Given the description of an element on the screen output the (x, y) to click on. 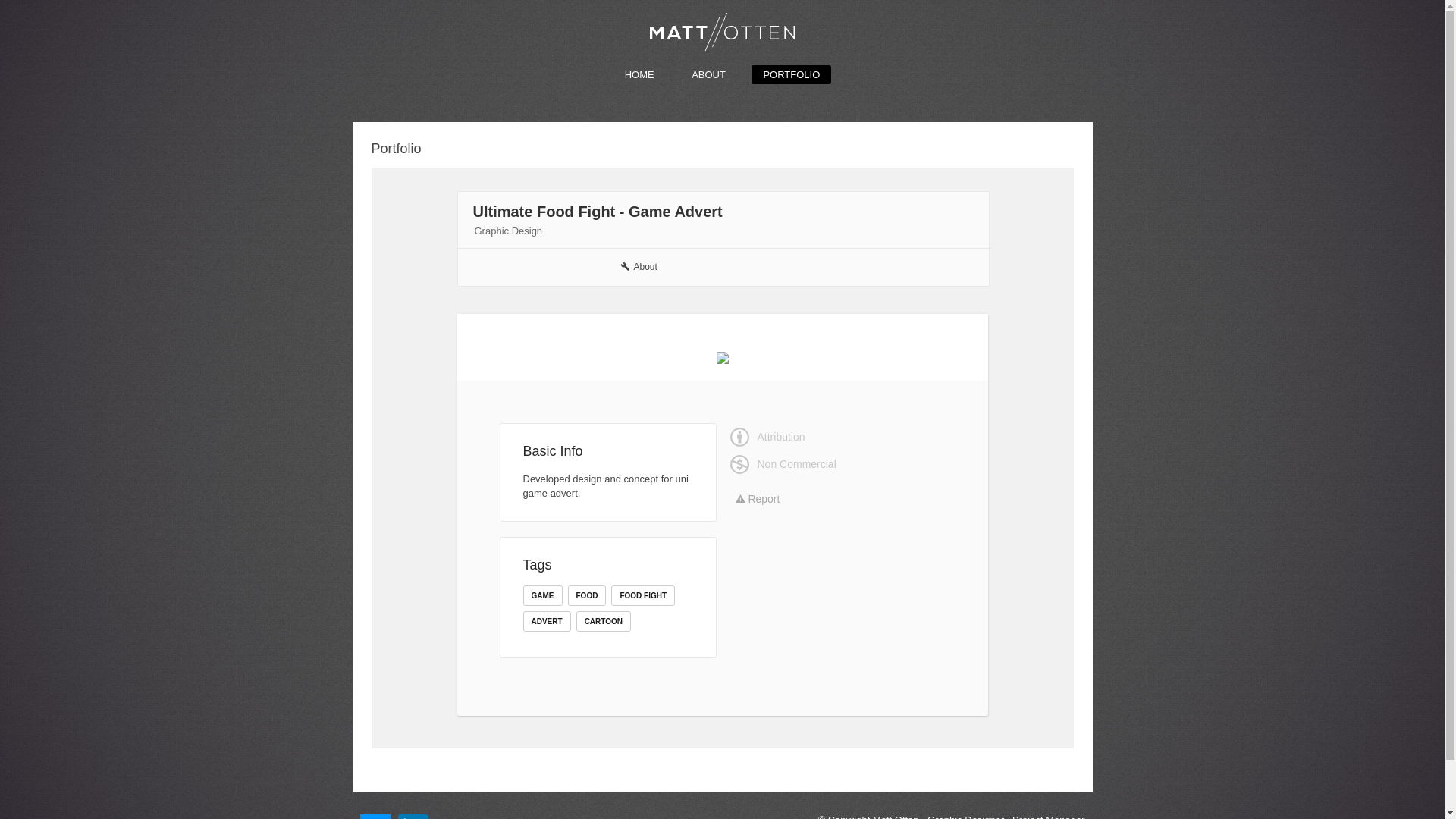
HOME Element type: text (639, 74)
PORTFOLIO Element type: text (791, 74)
ABOUT Element type: text (708, 74)
Report Element type: text (757, 498)
About Element type: text (638, 266)
